Given the description of an element on the screen output the (x, y) to click on. 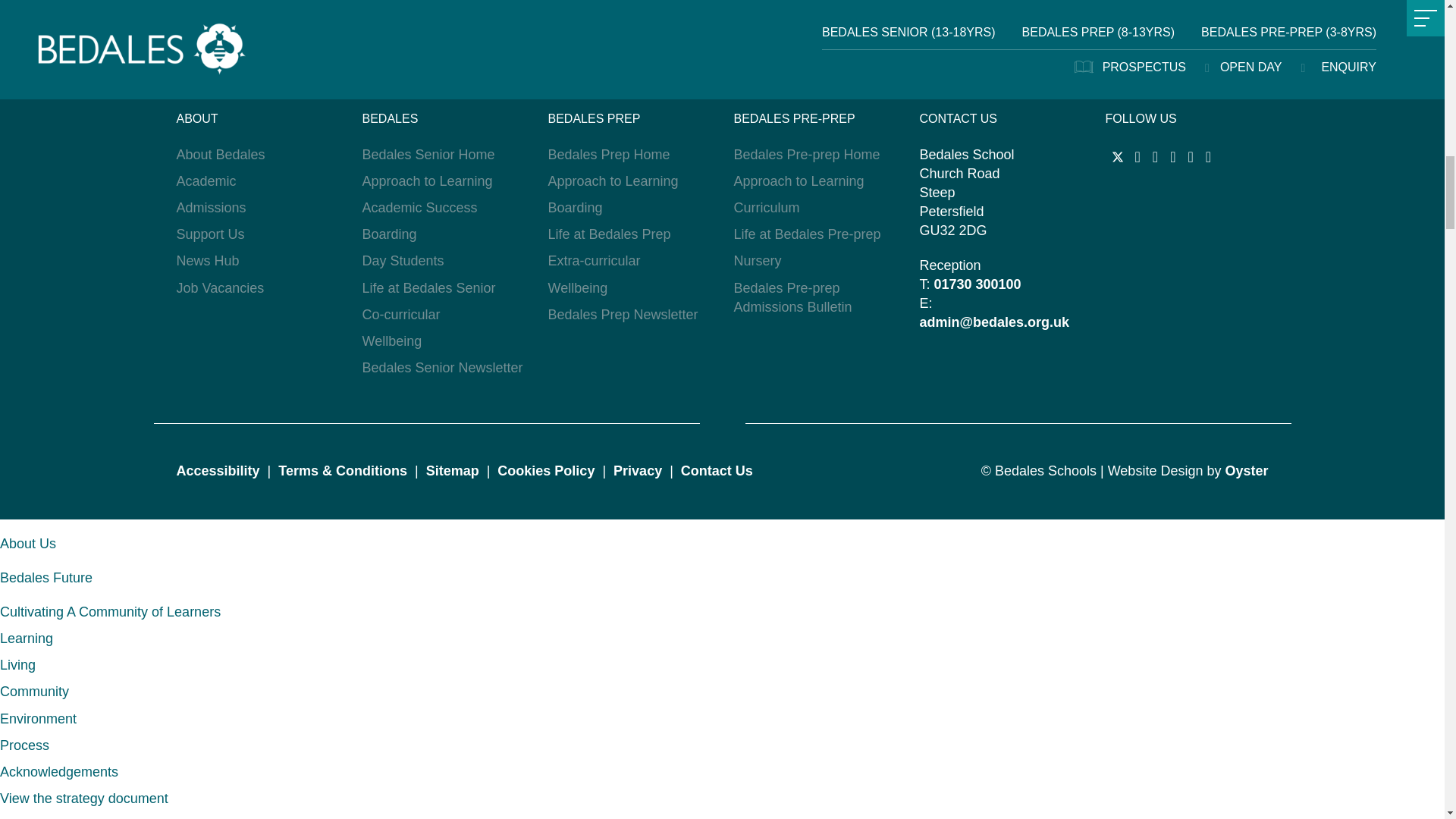
Privacy Policy (637, 470)
Bedales Future (46, 577)
Bedales School Website Cookie Policy (545, 470)
Cultivating A Community of Learners (110, 611)
Contact Us (716, 470)
Accessibility (221, 470)
